Given the description of an element on the screen output the (x, y) to click on. 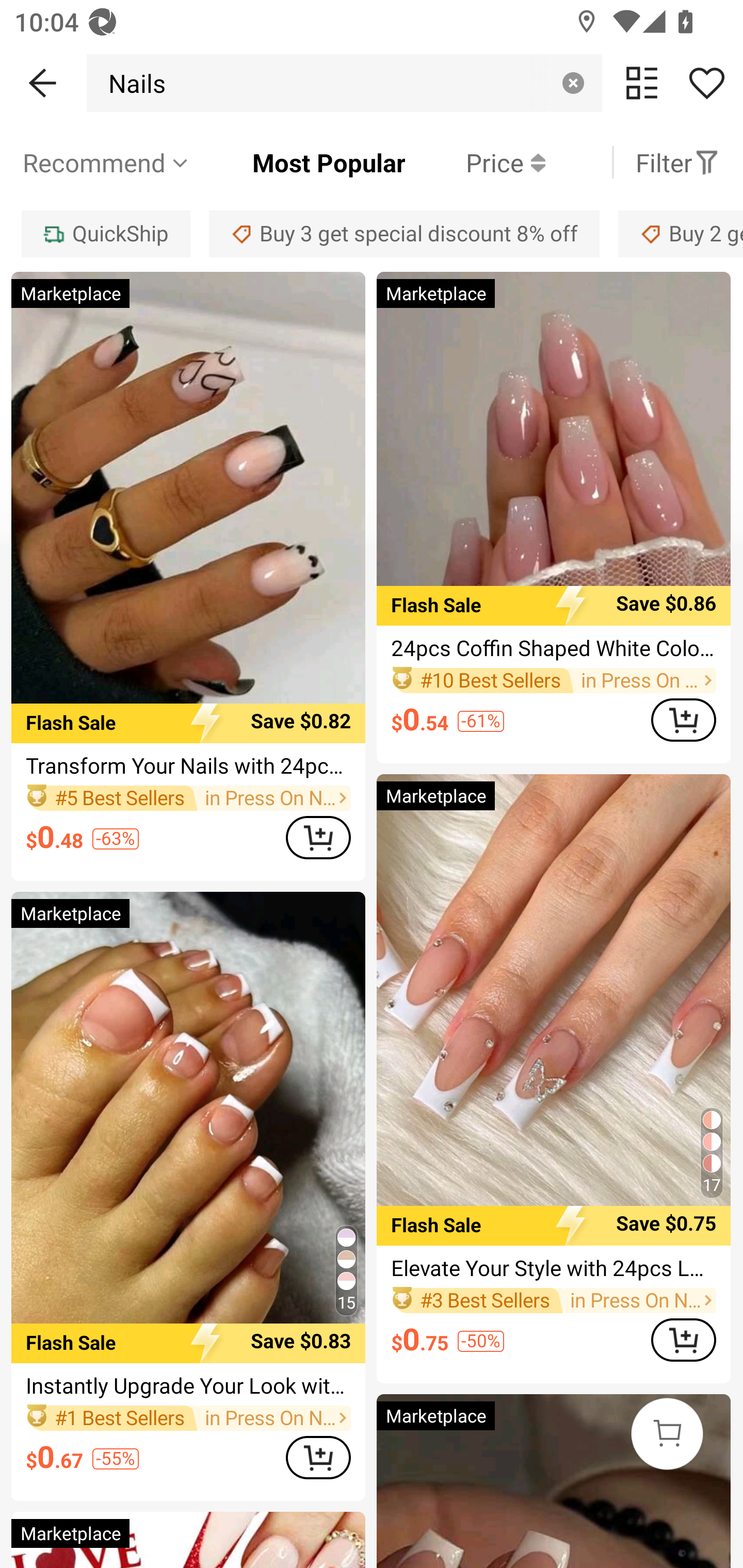
Nails Clear (343, 82)
Nails (131, 82)
Clear (572, 82)
change view (641, 82)
Share (706, 82)
Recommend (106, 162)
Most Popular (297, 162)
Price (474, 162)
Filter (677, 162)
QuickShip (105, 233)
Buy 3 get special discount 8% off (403, 233)
Buy 2 get special discount 30% off (680, 233)
#10 Best Sellers in Press On Nails (553, 680)
ADD TO CART (683, 719)
#5 Best Sellers in Press On Nails (188, 798)
ADD TO CART (318, 837)
#3 Best Sellers in Press On Nails (553, 1299)
ADD TO CART (683, 1339)
#1 Best Sellers in Press On Nails (188, 1417)
ADD TO CART (318, 1457)
